Given the description of an element on the screen output the (x, y) to click on. 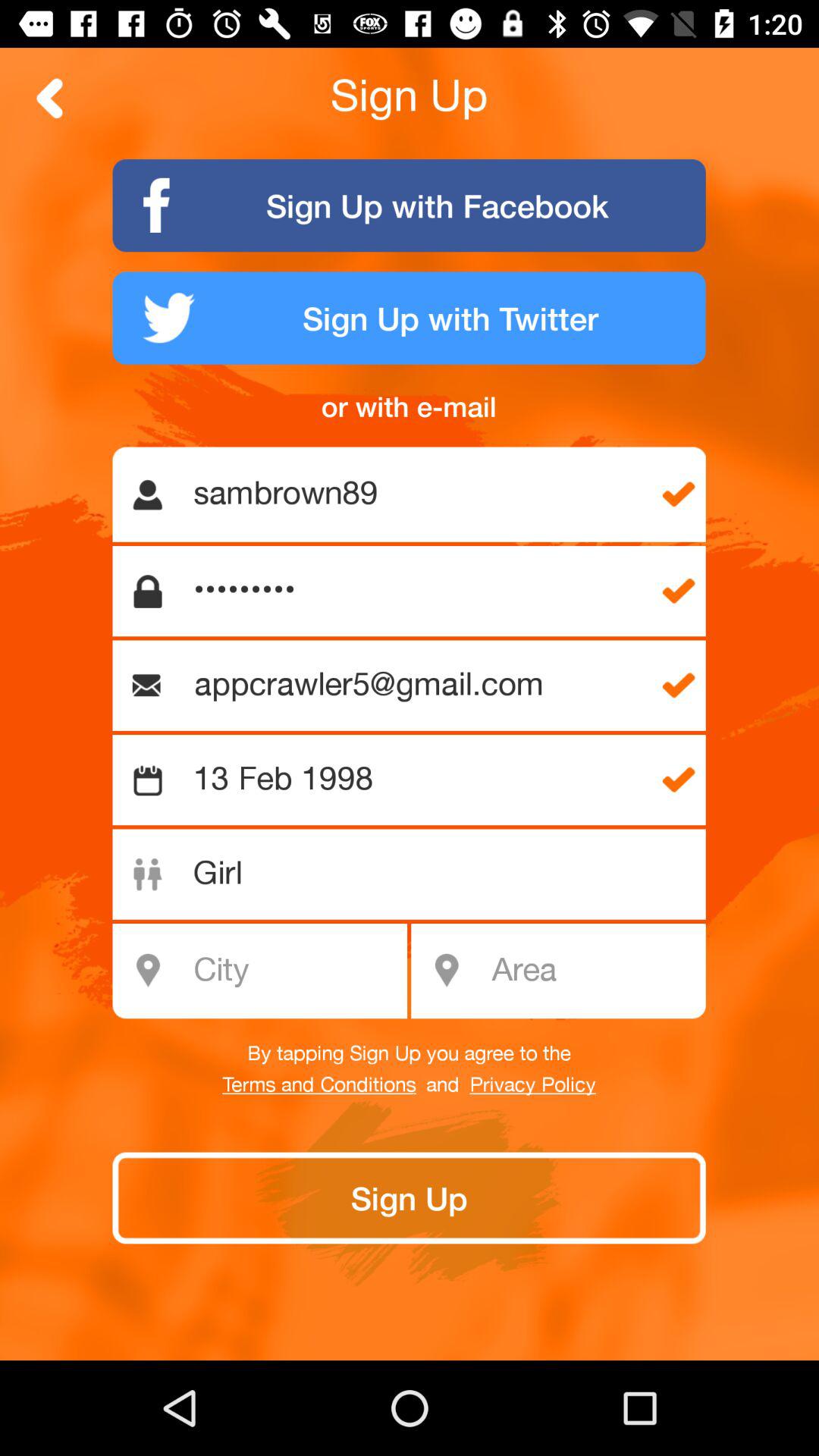
type in area (593, 970)
